Given the description of an element on the screen output the (x, y) to click on. 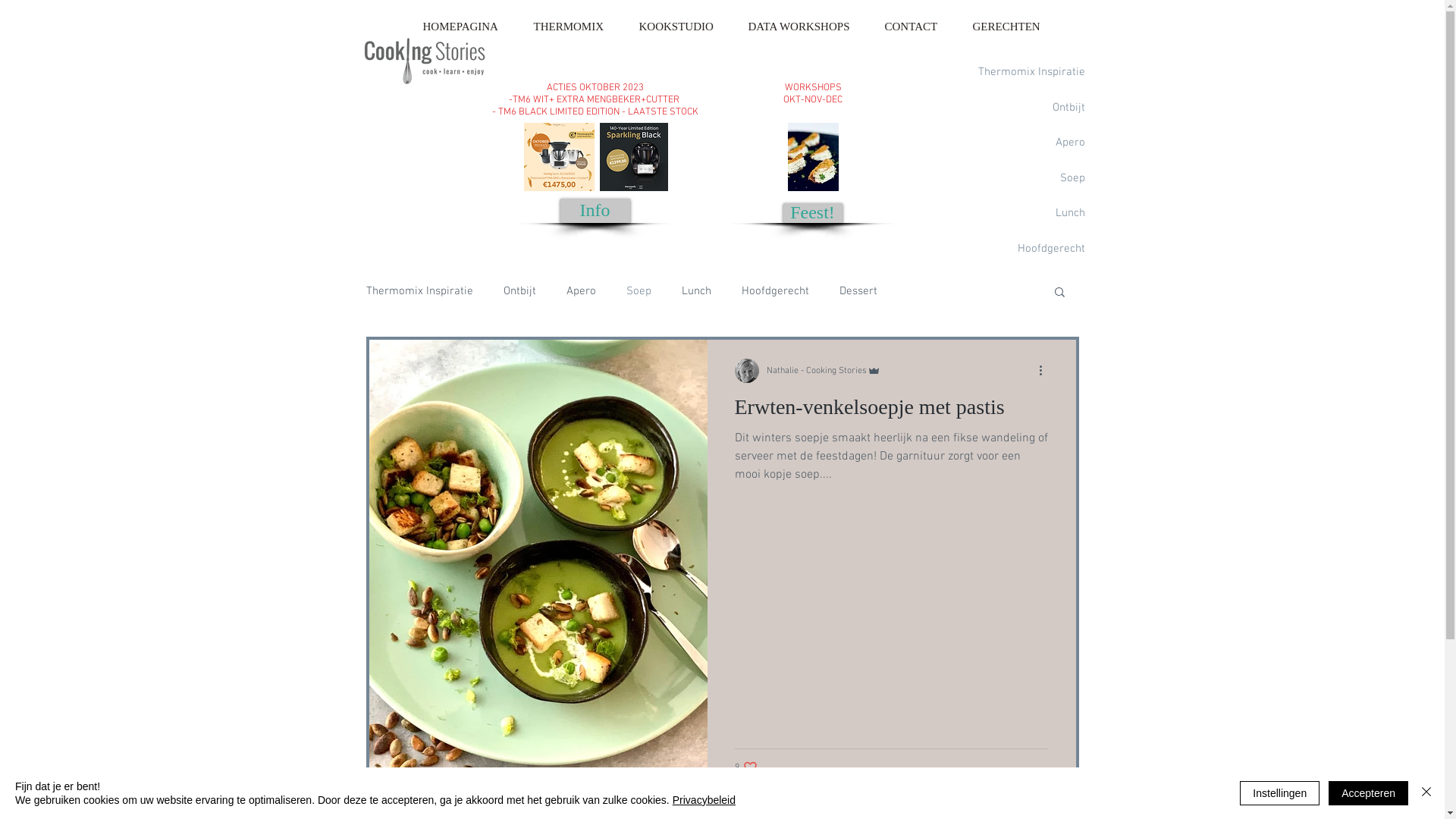
9 vind-ik-leuks. Post is niet als leuk gemarkeerd
9 Element type: text (745, 766)
Feest! Element type: text (811, 212)
HOMEPAGINA Element type: text (464, 26)
GERECHTEN Element type: text (1011, 26)
Apero Element type: text (1030, 142)
Instellingen Element type: text (1279, 793)
Hoofdgerecht Element type: text (1030, 248)
Nathalie - Cooking Stories Element type: text (822, 370)
Soep Element type: text (1030, 178)
kaasmousse in een jasje van kletskoppen. Element type: hover (812, 156)
Hoofdgerecht Element type: text (775, 290)
Dessert Element type: text (857, 290)
Erwten-venkelsoepje met pastis Element type: text (891, 410)
KOOKSTUDIO Element type: text (680, 26)
CONTACT Element type: text (916, 26)
Lunch Element type: text (695, 290)
Soep Element type: text (638, 290)
Thermomix Inspiratie Element type: text (1030, 72)
DATA WORKSHOPS Element type: text (803, 26)
Ontbijt Element type: text (1030, 107)
Thermomix Inspiratie Element type: text (418, 290)
Ontbijt Element type: text (519, 290)
actie aug 2023 TM6.jpg Element type: hover (558, 156)
Accepteren Element type: text (1368, 793)
THERMOMIX Element type: text (572, 26)
Apero Element type: text (580, 290)
Privacybeleid Element type: text (703, 799)
Dessert Element type: text (1030, 283)
Info Element type: text (594, 210)
Lunch Element type: text (1030, 213)
